Given the description of an element on the screen output the (x, y) to click on. 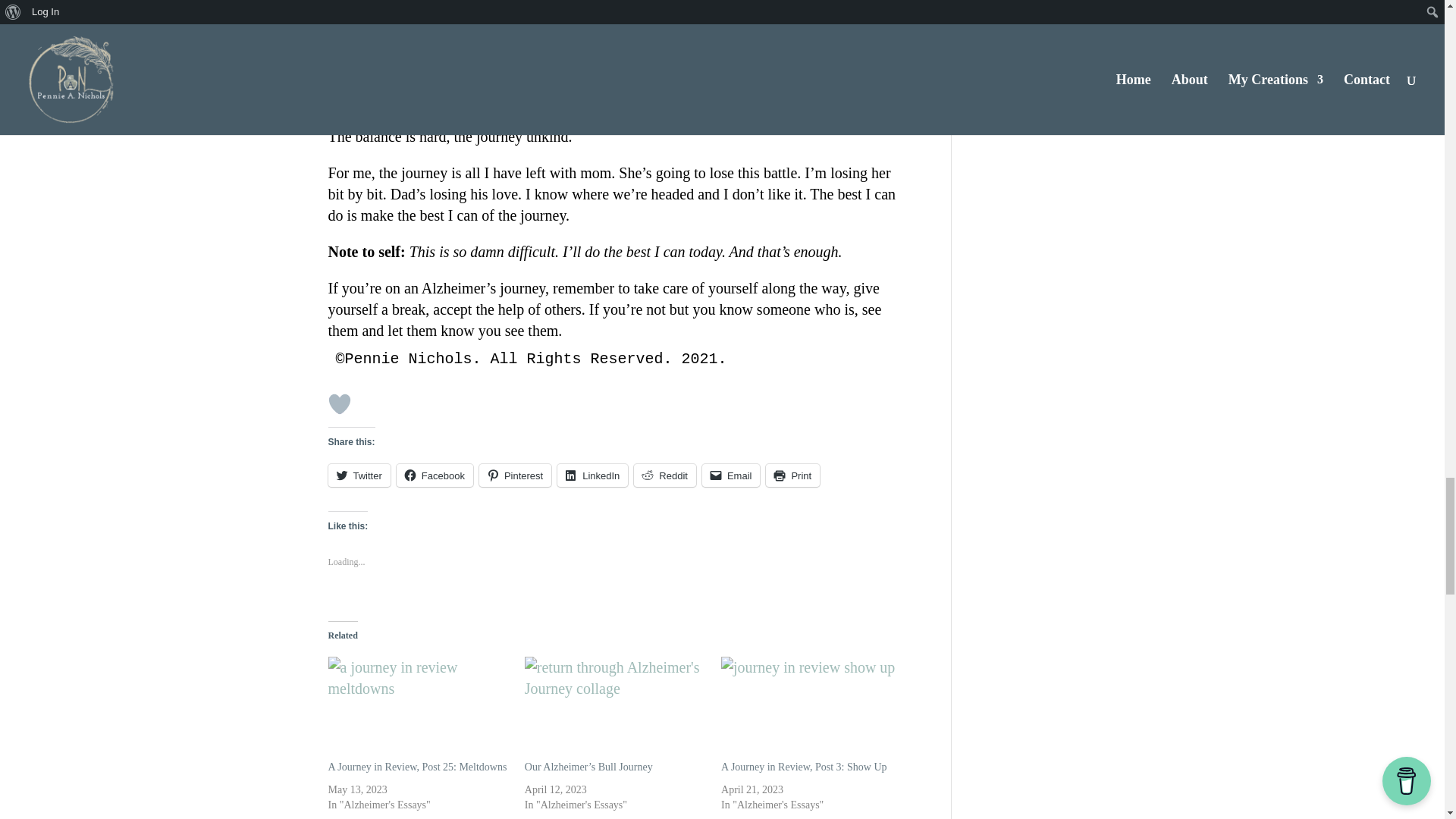
Click to print (792, 475)
A Journey in Review, Post 3: Show Up (811, 708)
Click to share on Facebook (434, 475)
A Journey in Review, Post 25: Meltdowns (416, 767)
Click to share on LinkedIn (592, 475)
A Journey in Review, Post 3: Show Up (803, 767)
Click to share on Reddit (664, 475)
A Journey in Review, Post 25: Meltdowns (417, 708)
Click to share on Pinterest (515, 475)
Click to share on Twitter (358, 475)
Click to email a link to a friend (730, 475)
